Given the description of an element on the screen output the (x, y) to click on. 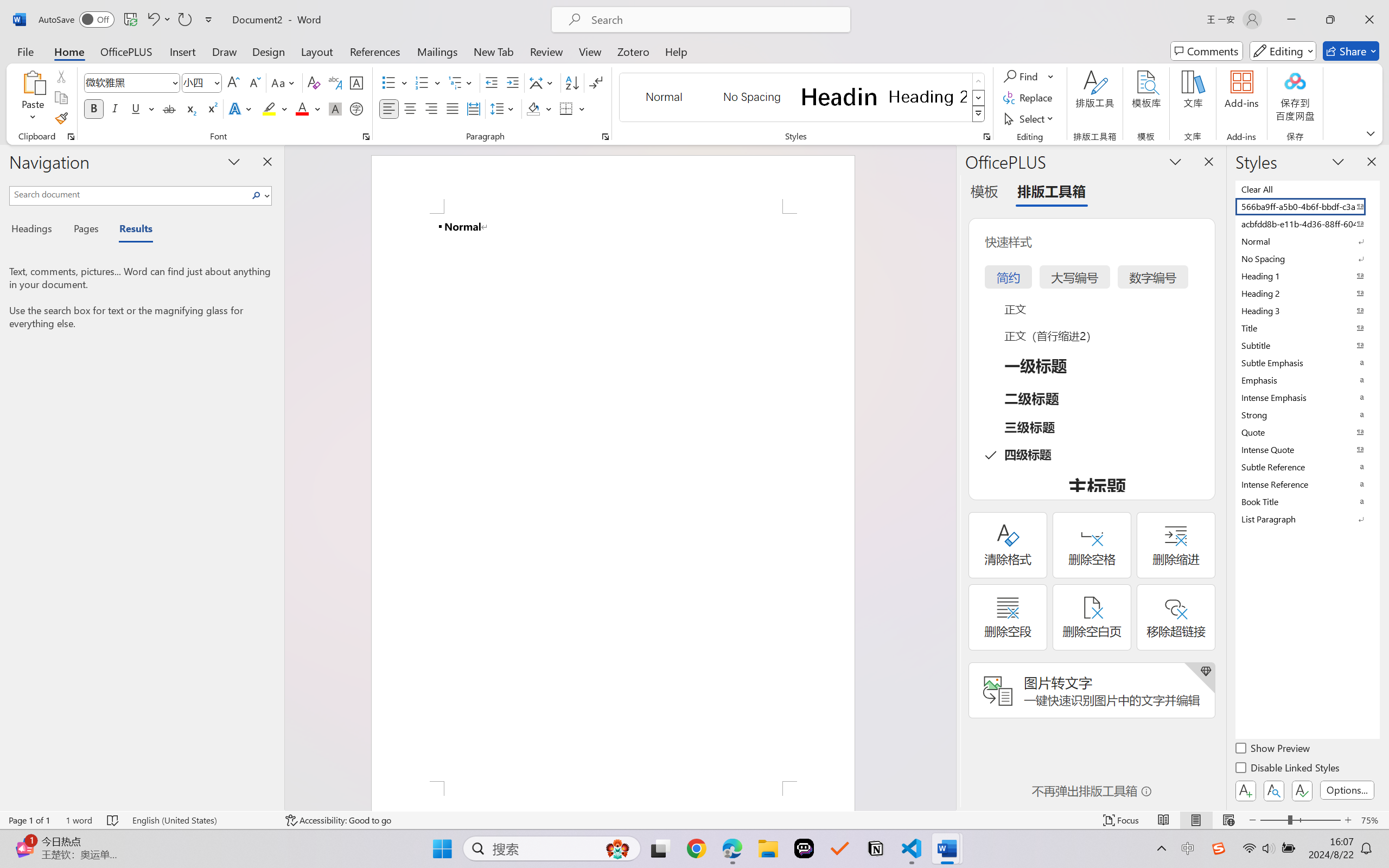
Review (546, 51)
Clear Formatting (313, 82)
Underline (135, 108)
Bullets (388, 82)
Results (130, 229)
Shading RGB(0, 0, 0) (533, 108)
Intense Reference (1306, 484)
Row up (978, 81)
Find (1022, 75)
Restore Down (1330, 19)
Design (268, 51)
Character Shading (334, 108)
Heading 1 (839, 96)
